Given the description of an element on the screen output the (x, y) to click on. 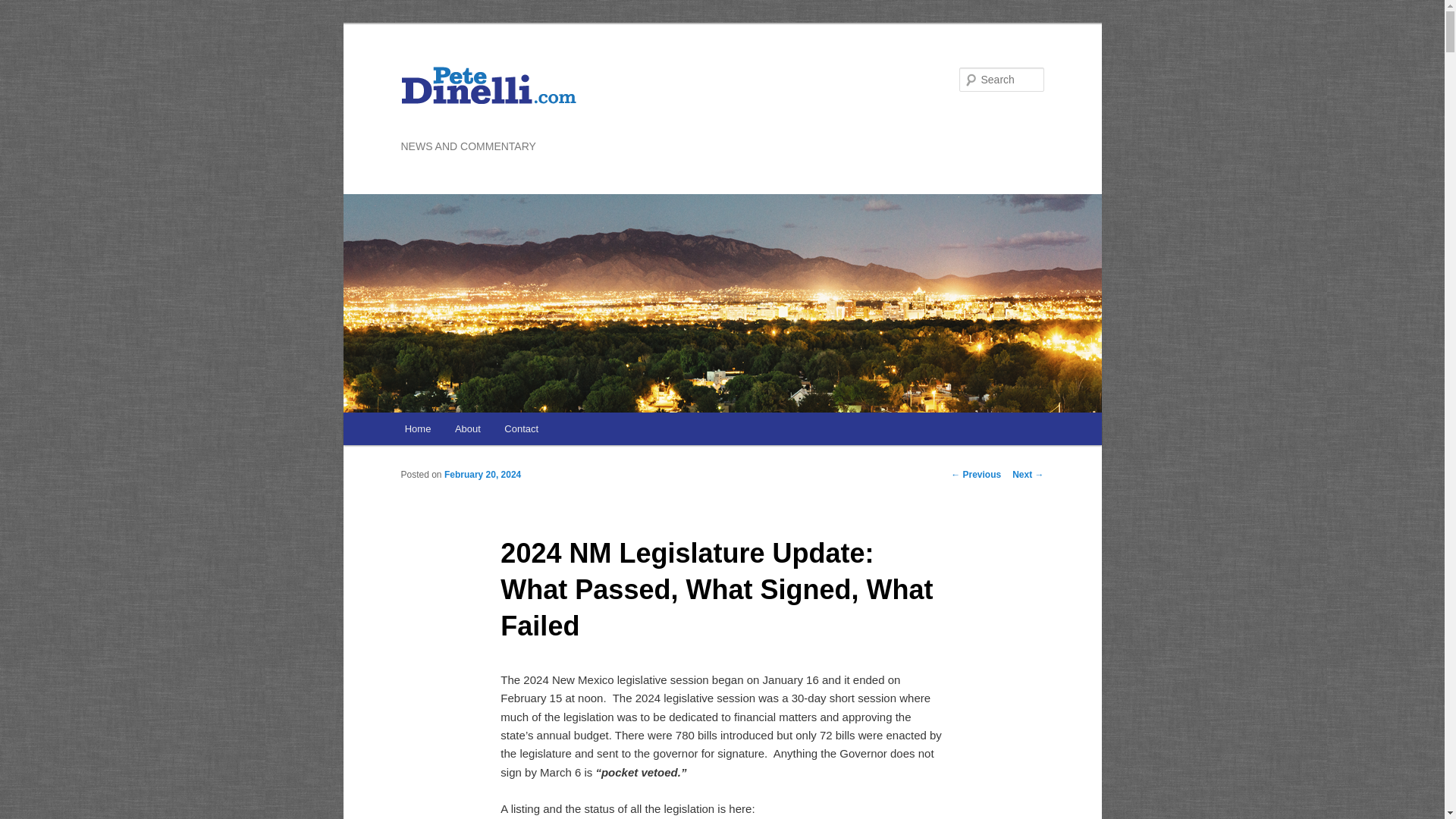
February 20, 2024 (482, 474)
Contact (521, 428)
Search (24, 8)
3:08 pm (482, 474)
Home (417, 428)
About (467, 428)
